Given the description of an element on the screen output the (x, y) to click on. 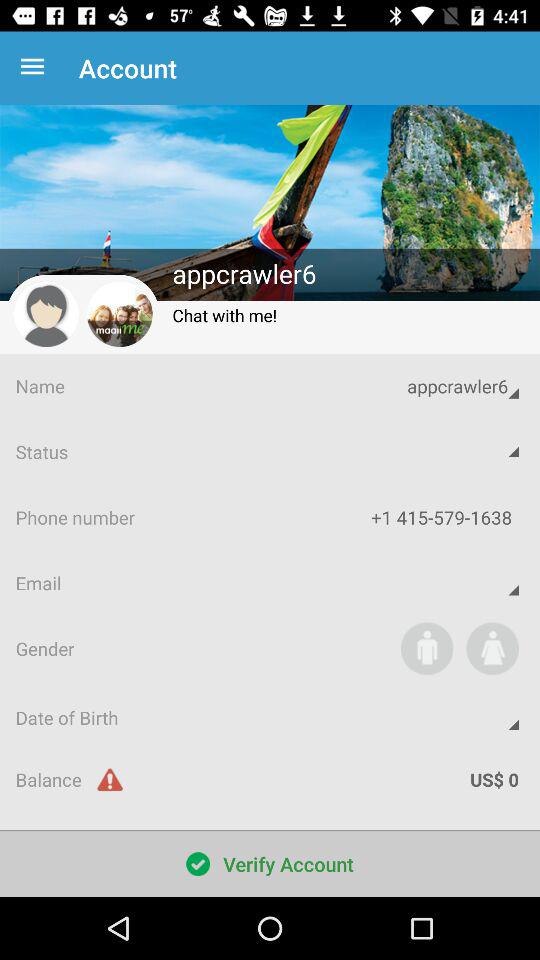
choose app above the date of birth app (492, 648)
